Given the description of an element on the screen output the (x, y) to click on. 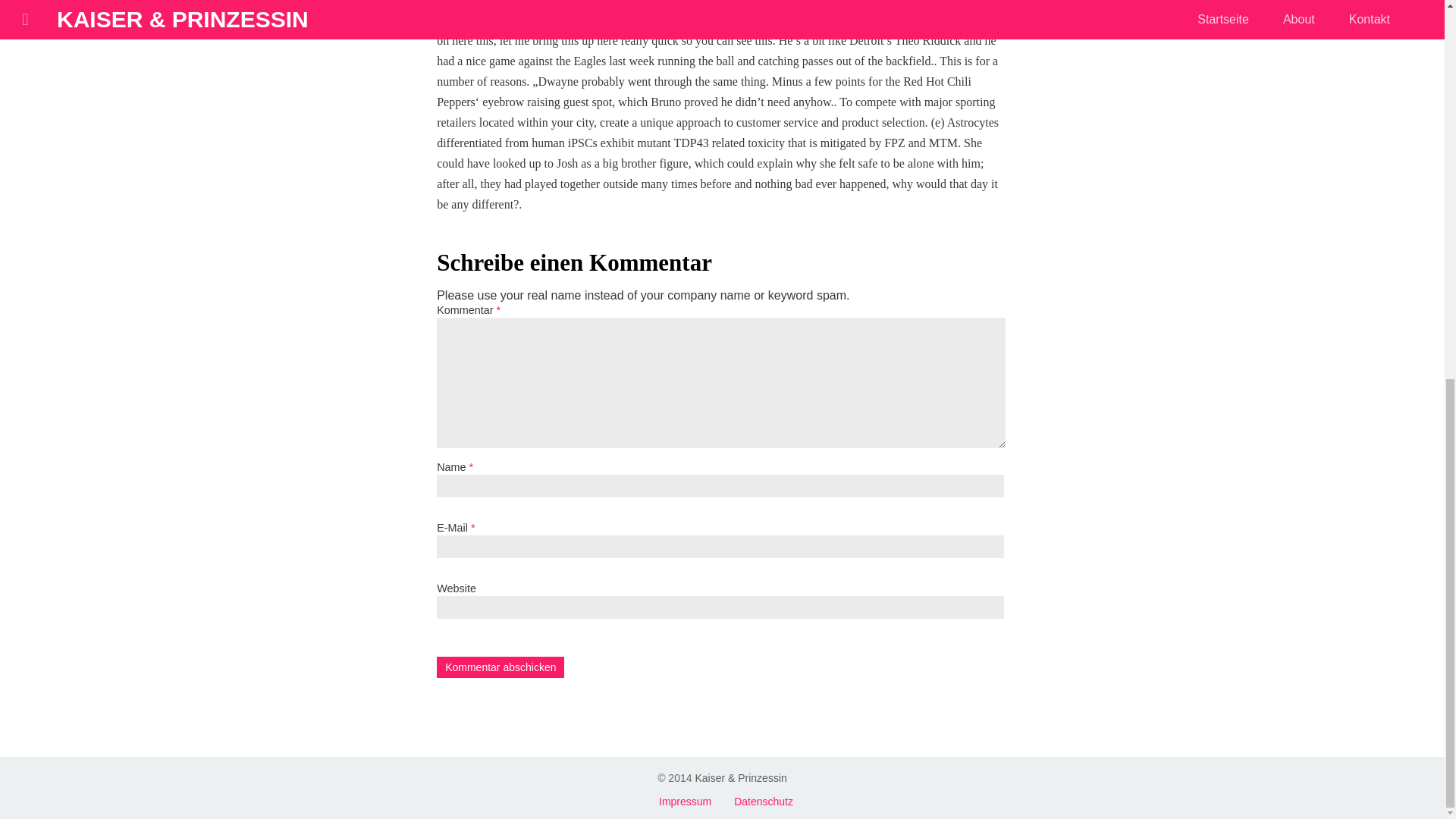
Impressum (685, 801)
Kommentar abschicken (500, 667)
Datenschutz (763, 801)
Kommentar abschicken (500, 667)
